Given the description of an element on the screen output the (x, y) to click on. 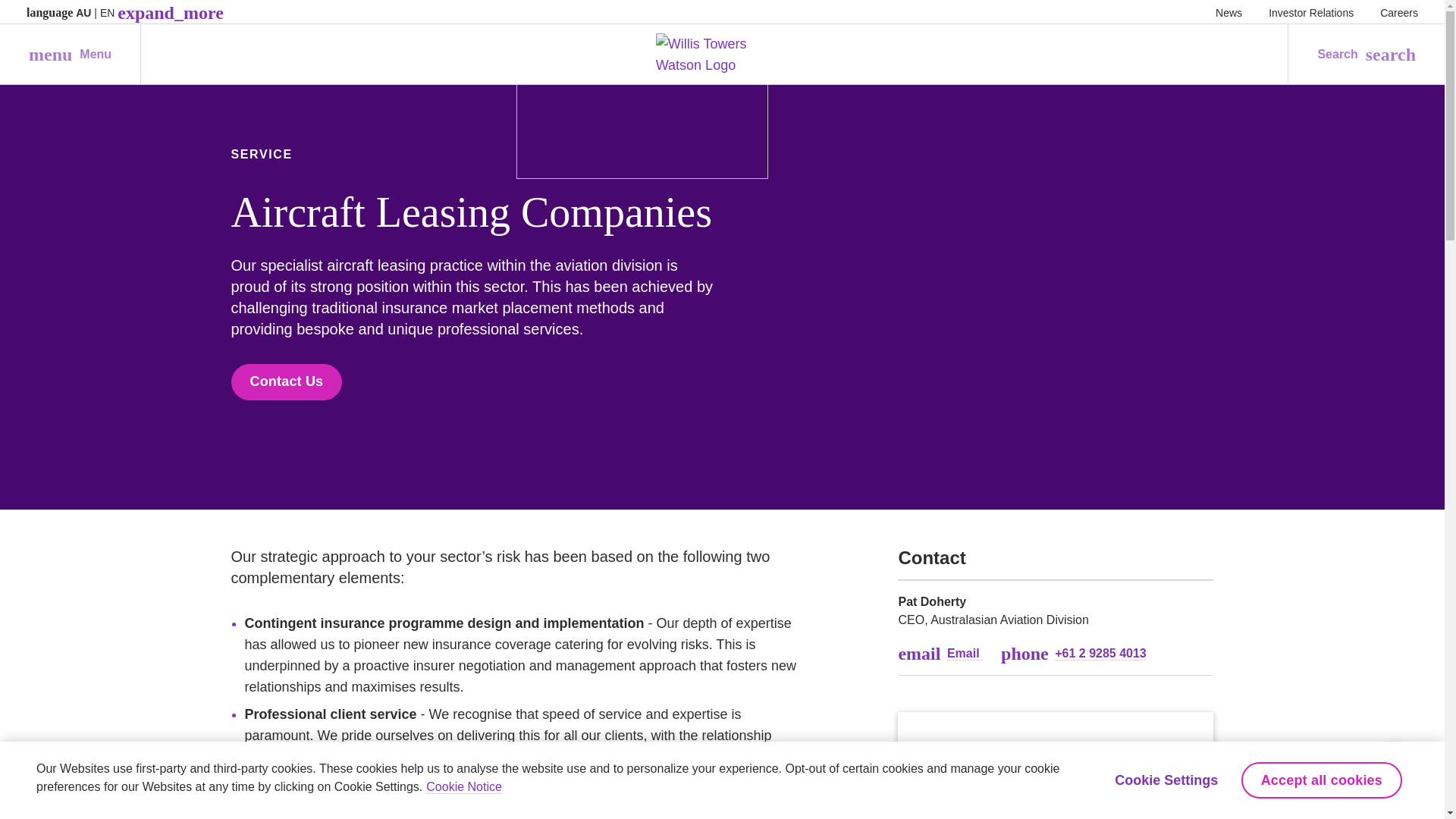
News (1228, 12)
Careers (69, 54)
Investor Relations (1399, 12)
